Given the description of an element on the screen output the (x, y) to click on. 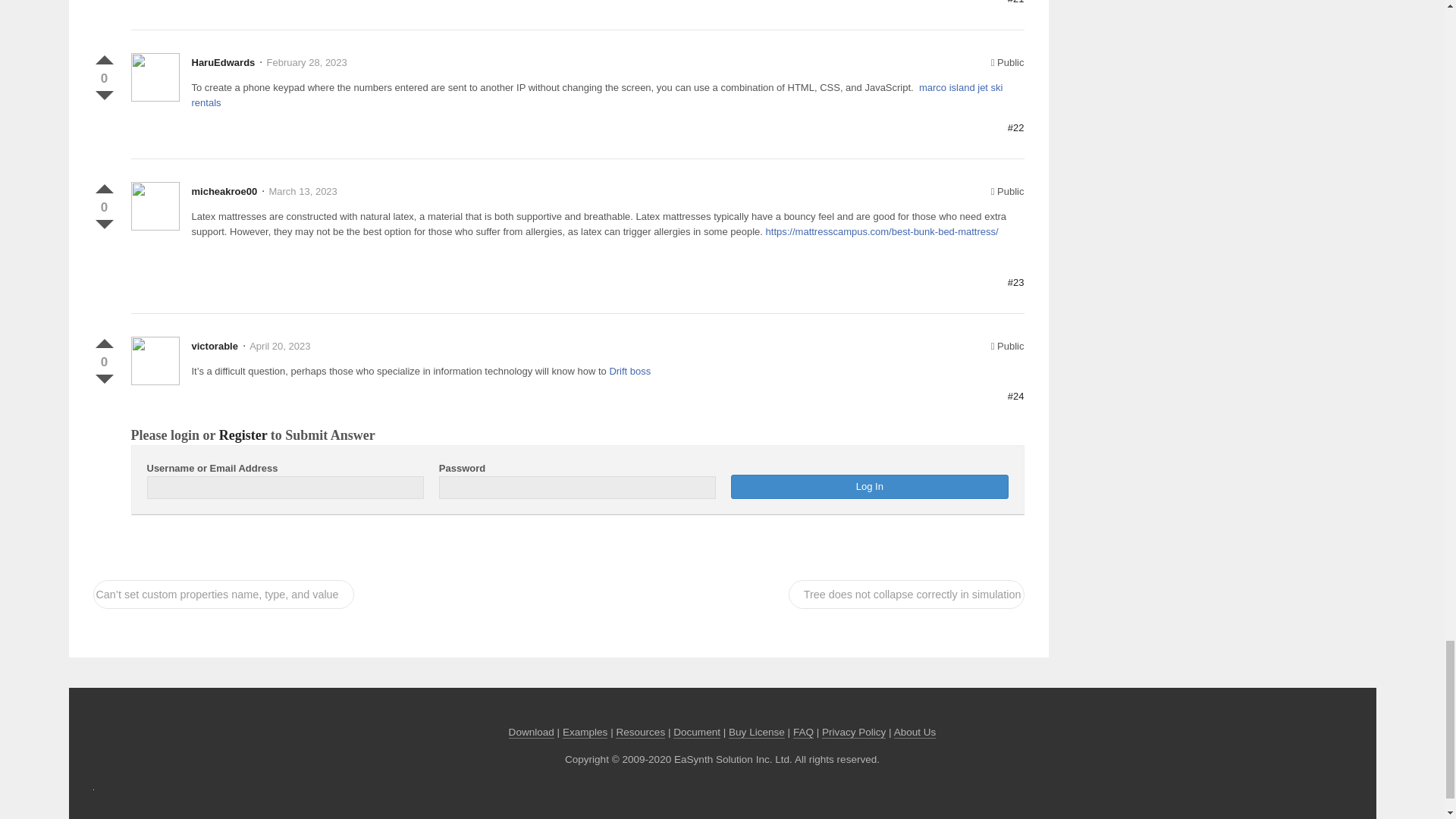
Log In (868, 486)
